Given the description of an element on the screen output the (x, y) to click on. 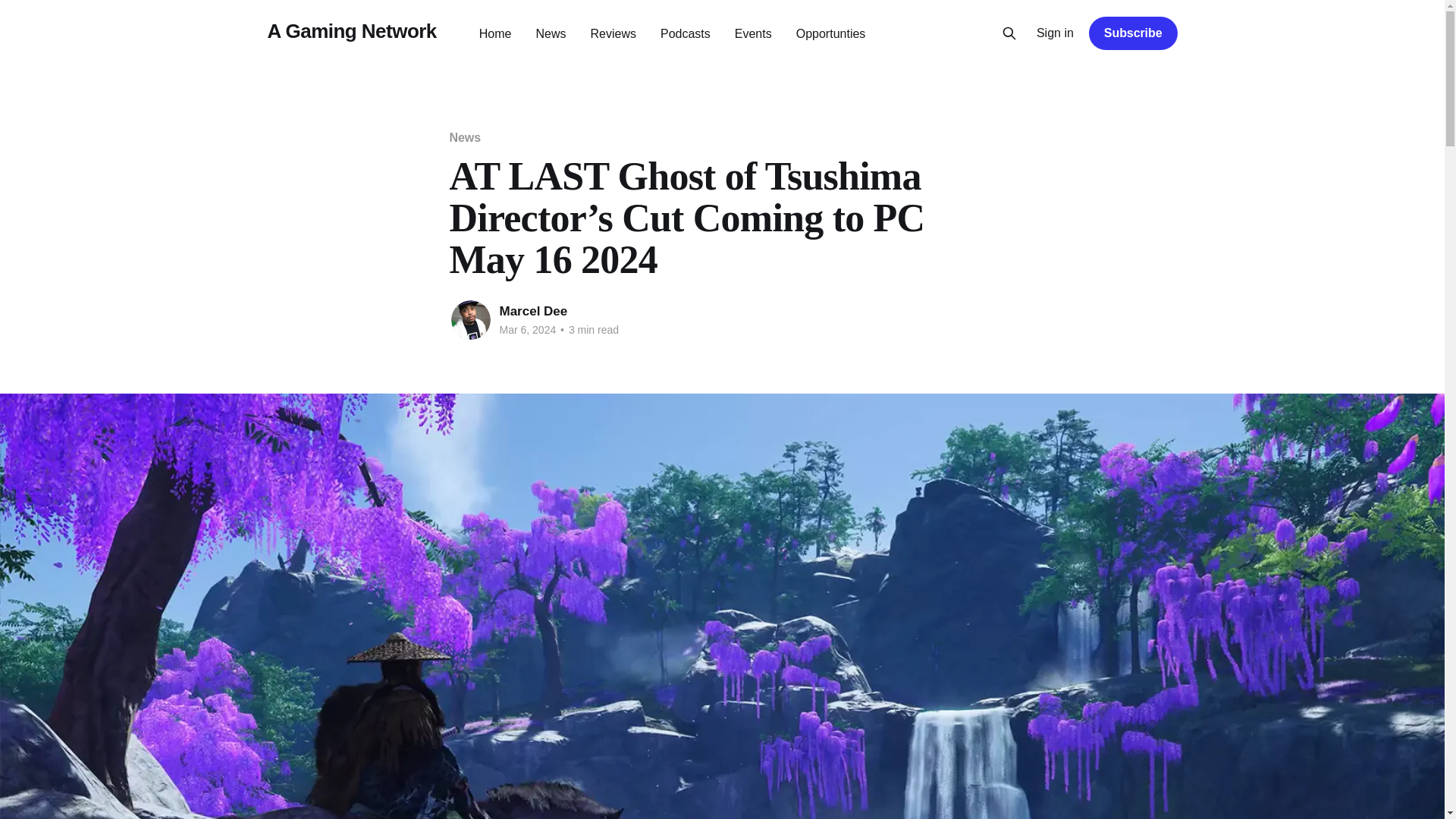
Sign in (1055, 33)
Events (753, 33)
News (464, 137)
Reviews (613, 33)
Subscribe (1133, 32)
Marcel Dee (533, 310)
News (550, 33)
Home (495, 33)
Opportunties (831, 33)
Podcasts (685, 33)
A Gaming Network (350, 31)
